Given the description of an element on the screen output the (x, y) to click on. 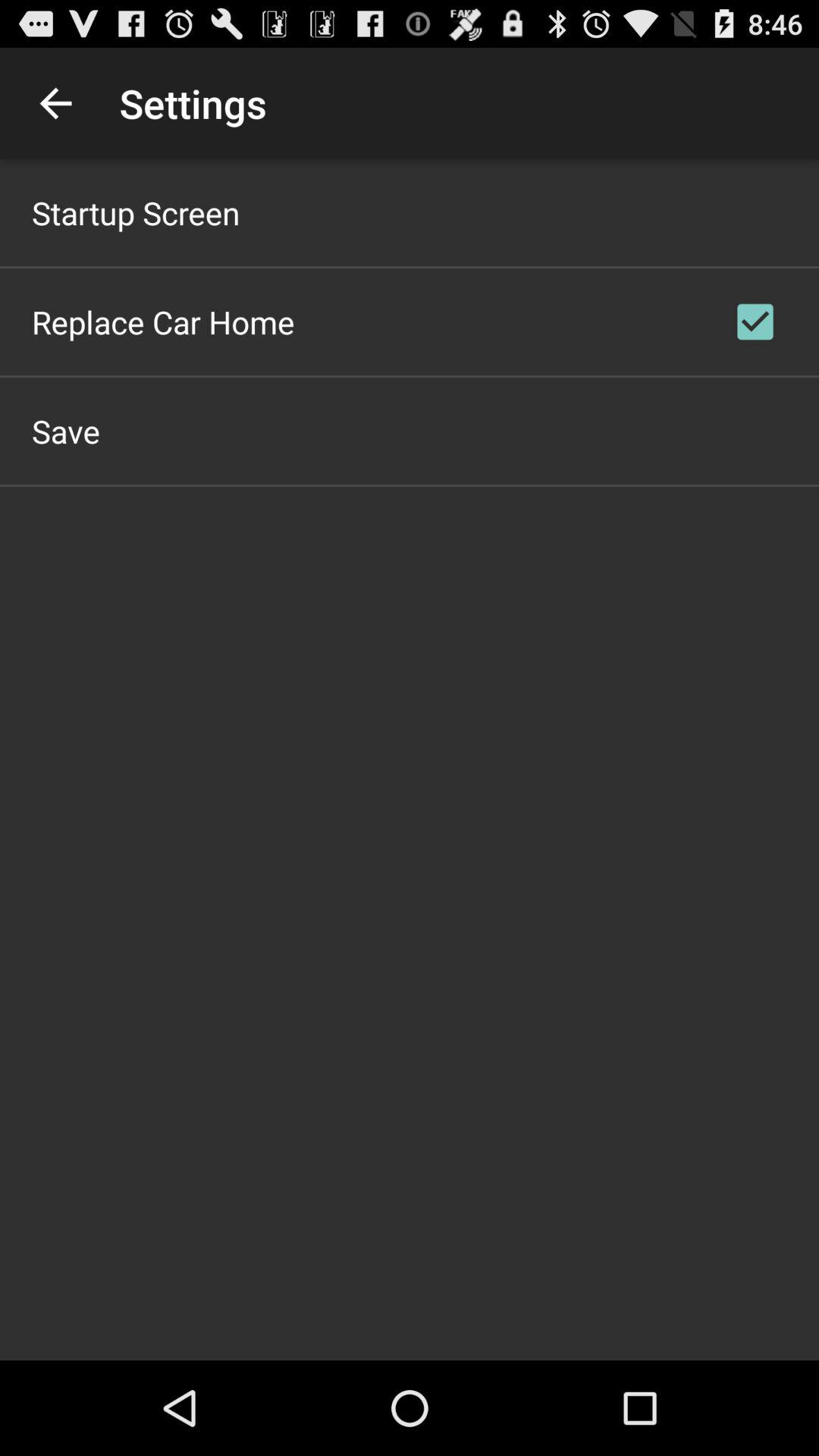
click icon next to the settings icon (55, 103)
